Given the description of an element on the screen output the (x, y) to click on. 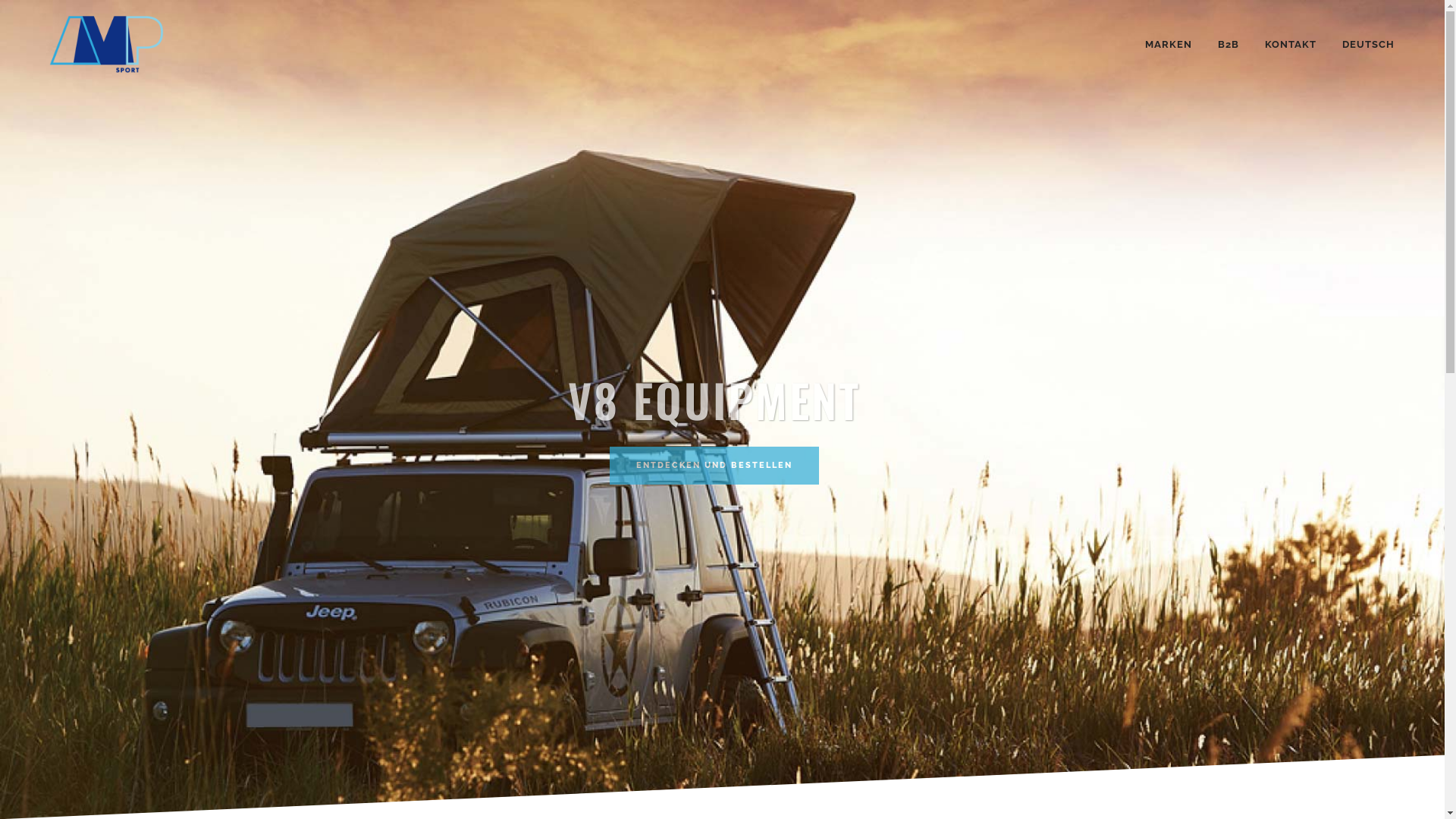
KONTAKT Element type: text (1290, 44)
B2B Element type: text (1228, 44)
MARKEN Element type: text (1168, 44)
info@ampsport.ch Element type: text (365, 725)
DEUTSCH Element type: text (1369, 44)
ENTDECKEN UND BESTELLEN Element type: text (714, 465)
